Given the description of an element on the screen output the (x, y) to click on. 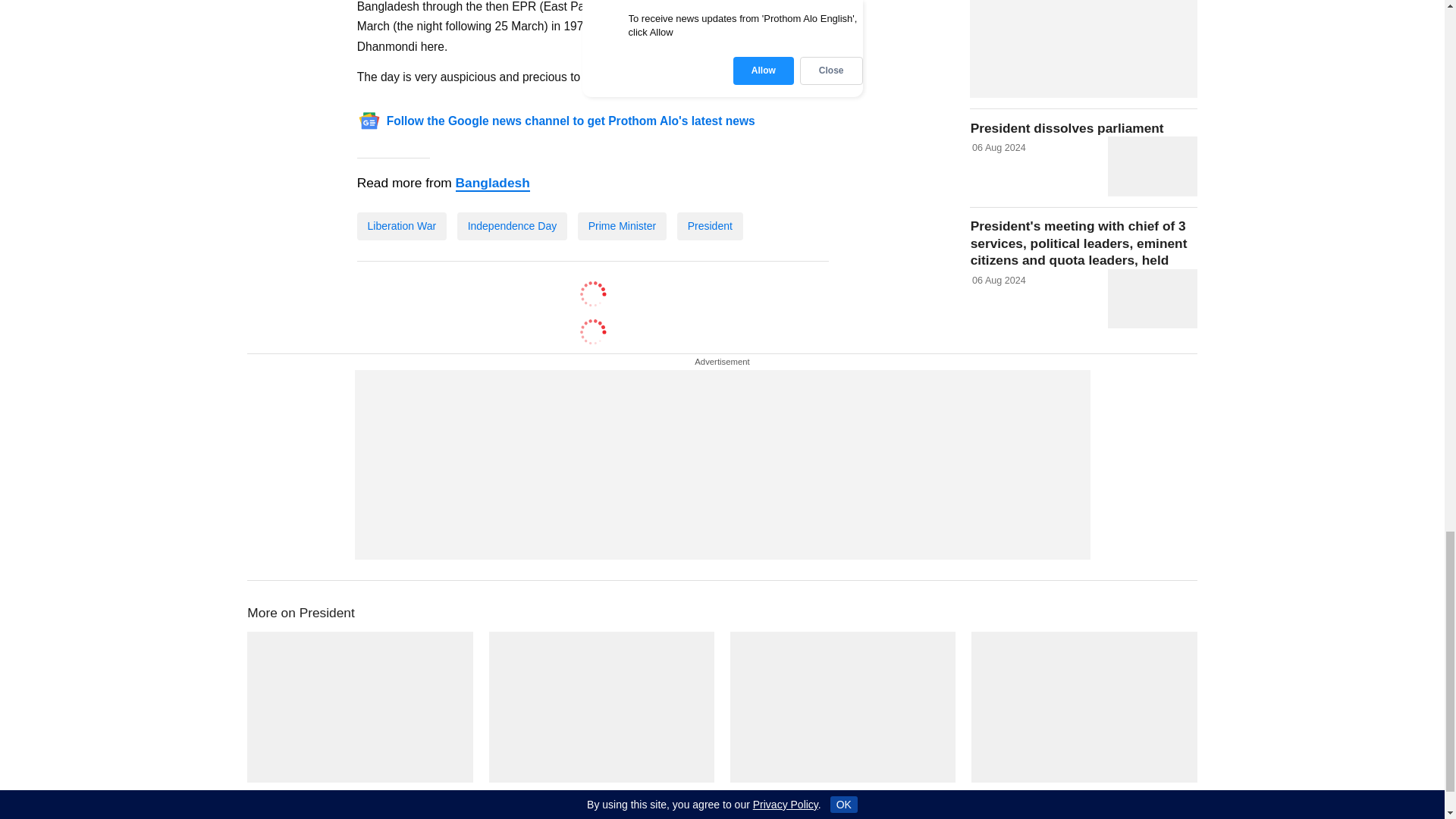
Liberation War (401, 225)
Independence Day (512, 225)
Bangladesh (492, 183)
